Given the description of an element on the screen output the (x, y) to click on. 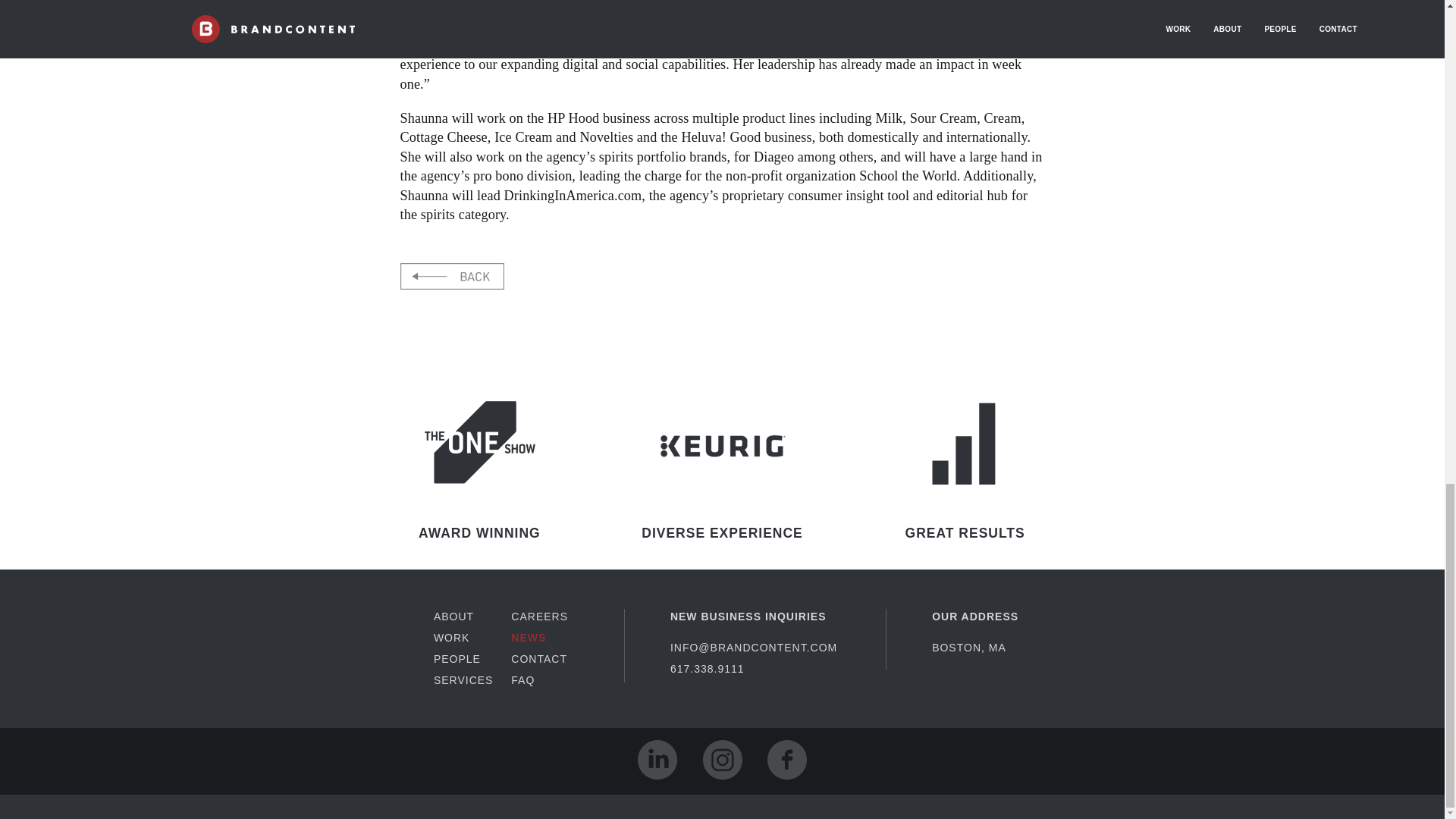
FAQ (539, 680)
PEOPLE (463, 659)
SERVICES (463, 680)
WORK (463, 637)
CONTACT (539, 659)
ABOUT (463, 616)
CAREERS (539, 616)
NEWS (539, 637)
BOSTON, MA (974, 647)
